Given the description of an element on the screen output the (x, y) to click on. 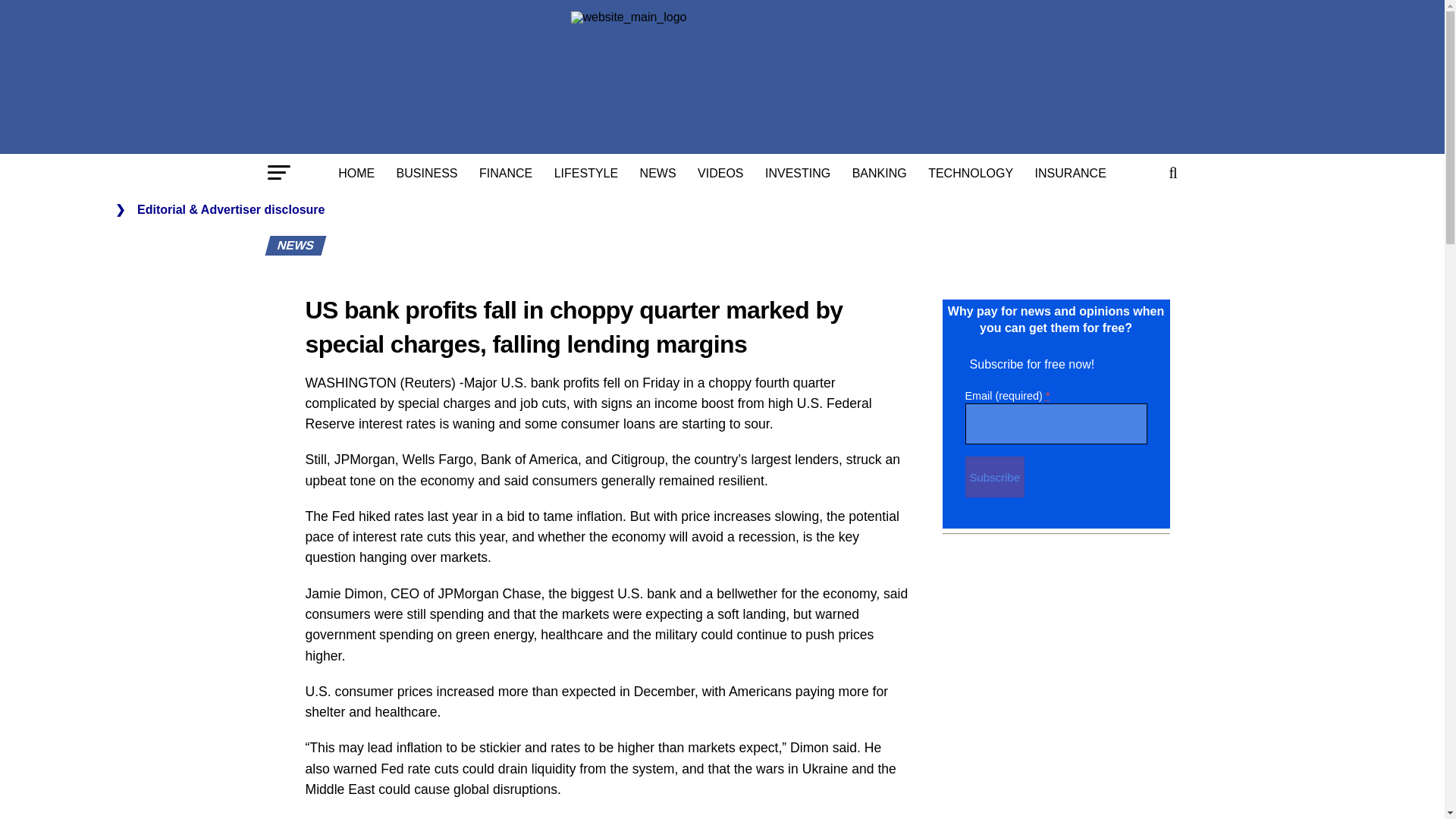
Business (427, 173)
Home (356, 173)
FINANCE (505, 173)
Subscribe (994, 476)
Lifestyle (585, 173)
BUSINESS (427, 173)
NEWS (657, 173)
LIFESTYLE (585, 173)
VIDEOS (720, 173)
HOME (356, 173)
